Given the description of an element on the screen output the (x, y) to click on. 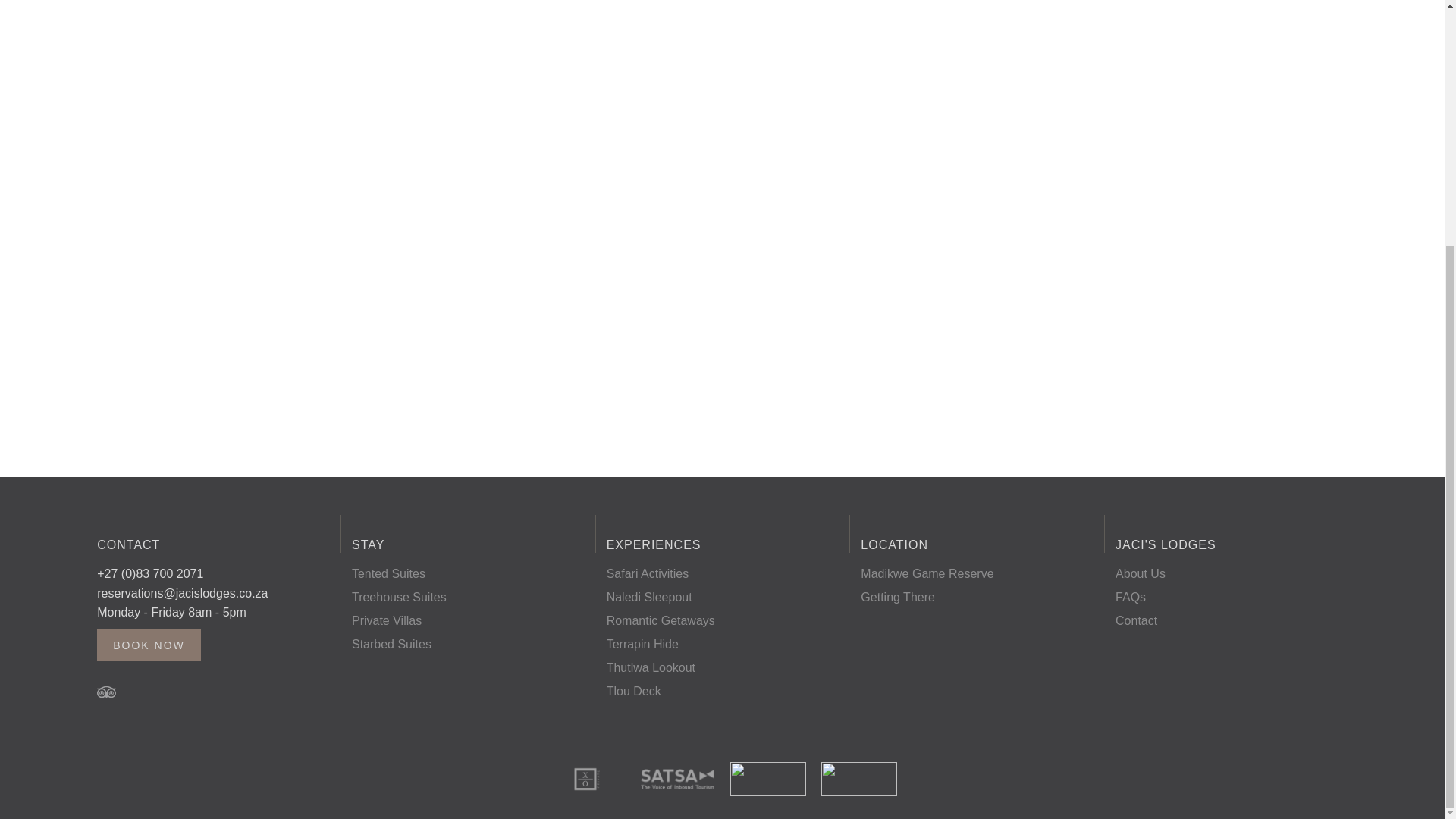
Private Villas (387, 620)
Treehouse Suites (399, 597)
Tented Suites (388, 573)
BOOK NOW (148, 644)
RETURN HOME (722, 140)
